Given the description of an element on the screen output the (x, y) to click on. 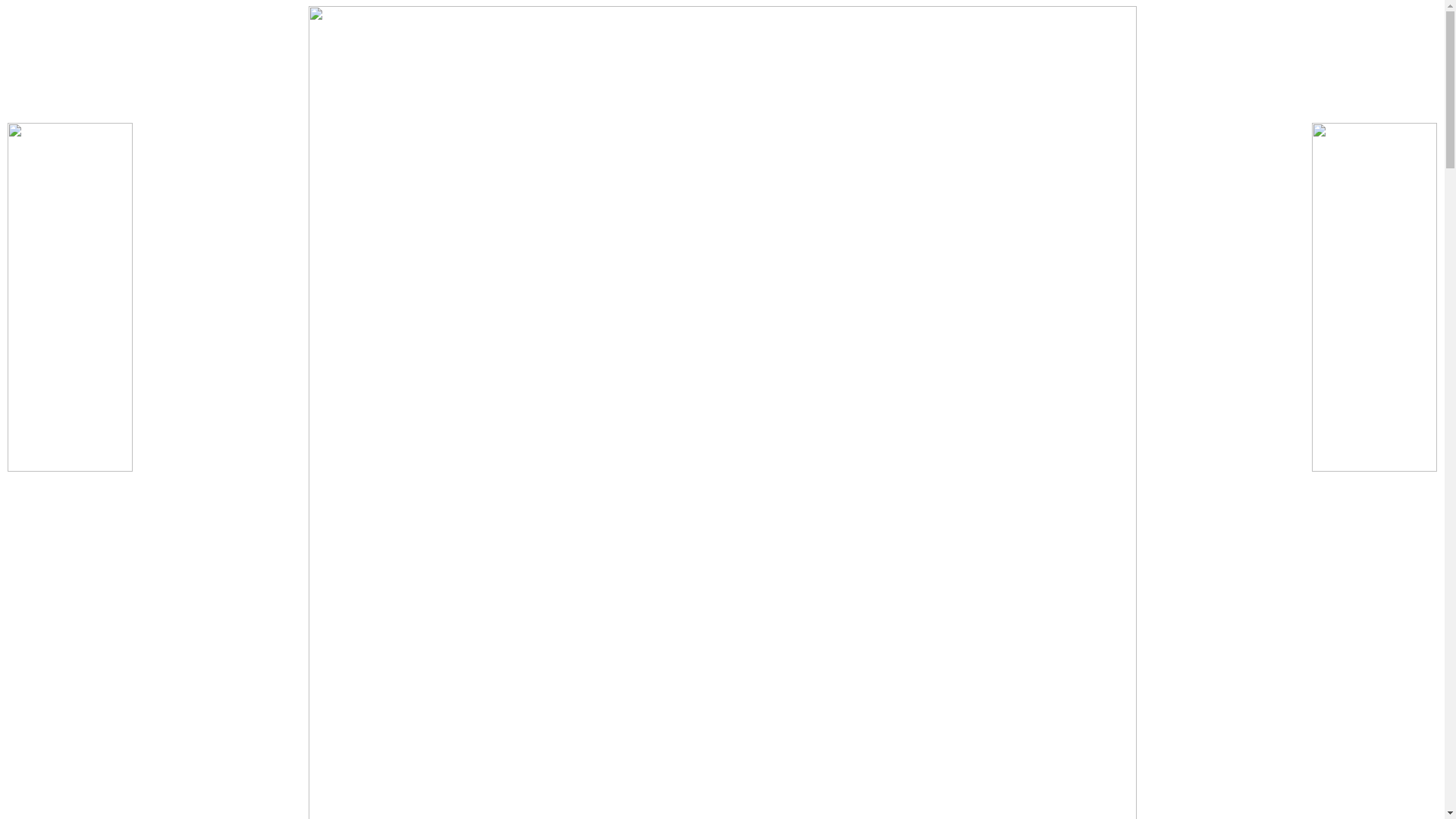
ASC Element type: text (229, 32)
